Given the description of an element on the screen output the (x, y) to click on. 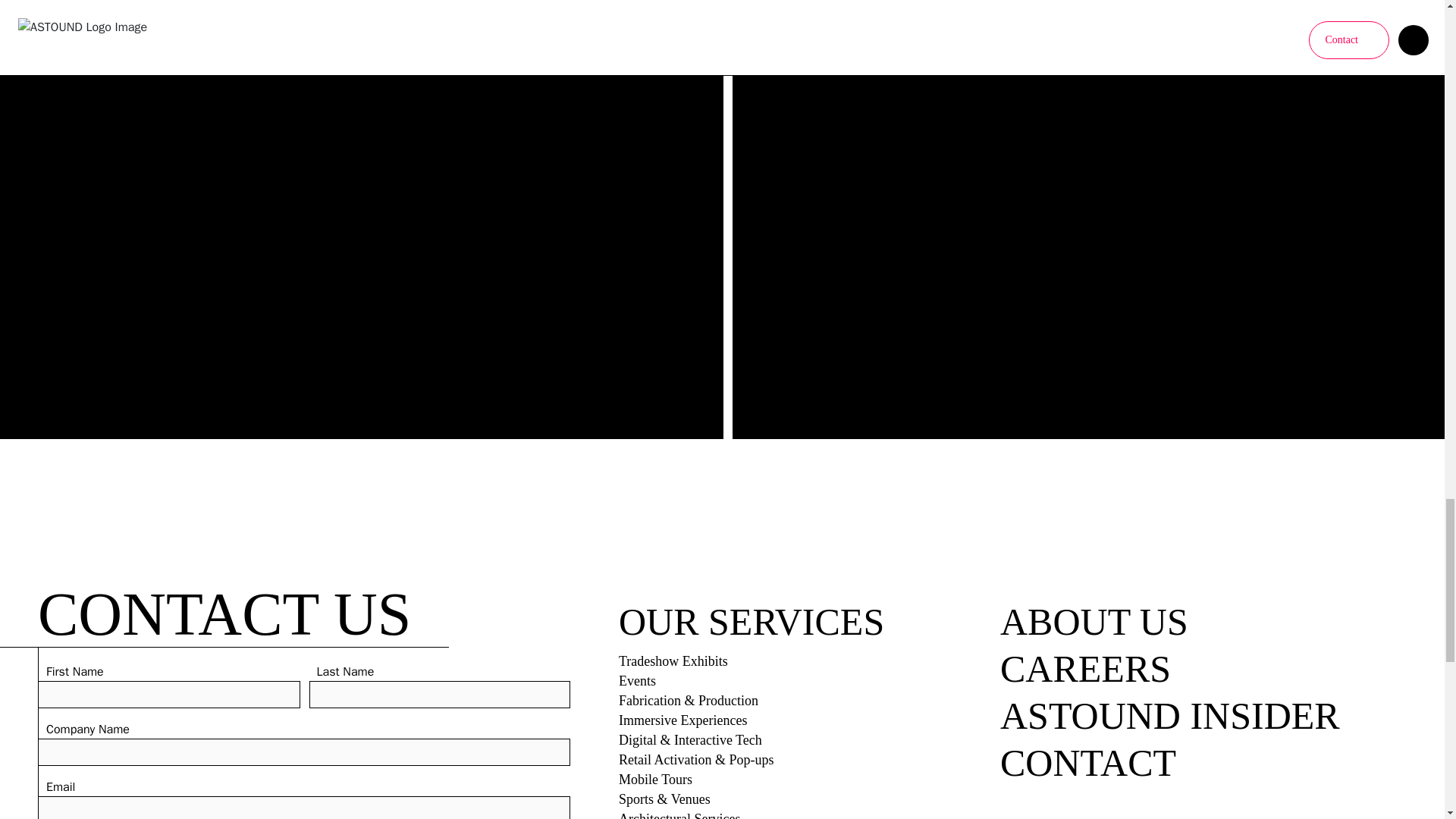
Tradeshow Exhibits (673, 660)
Immersive Experiences (682, 720)
Architectural Services (678, 814)
OUR SERVICES (774, 621)
Mobile Tours (655, 779)
Events (637, 680)
